Given the description of an element on the screen output the (x, y) to click on. 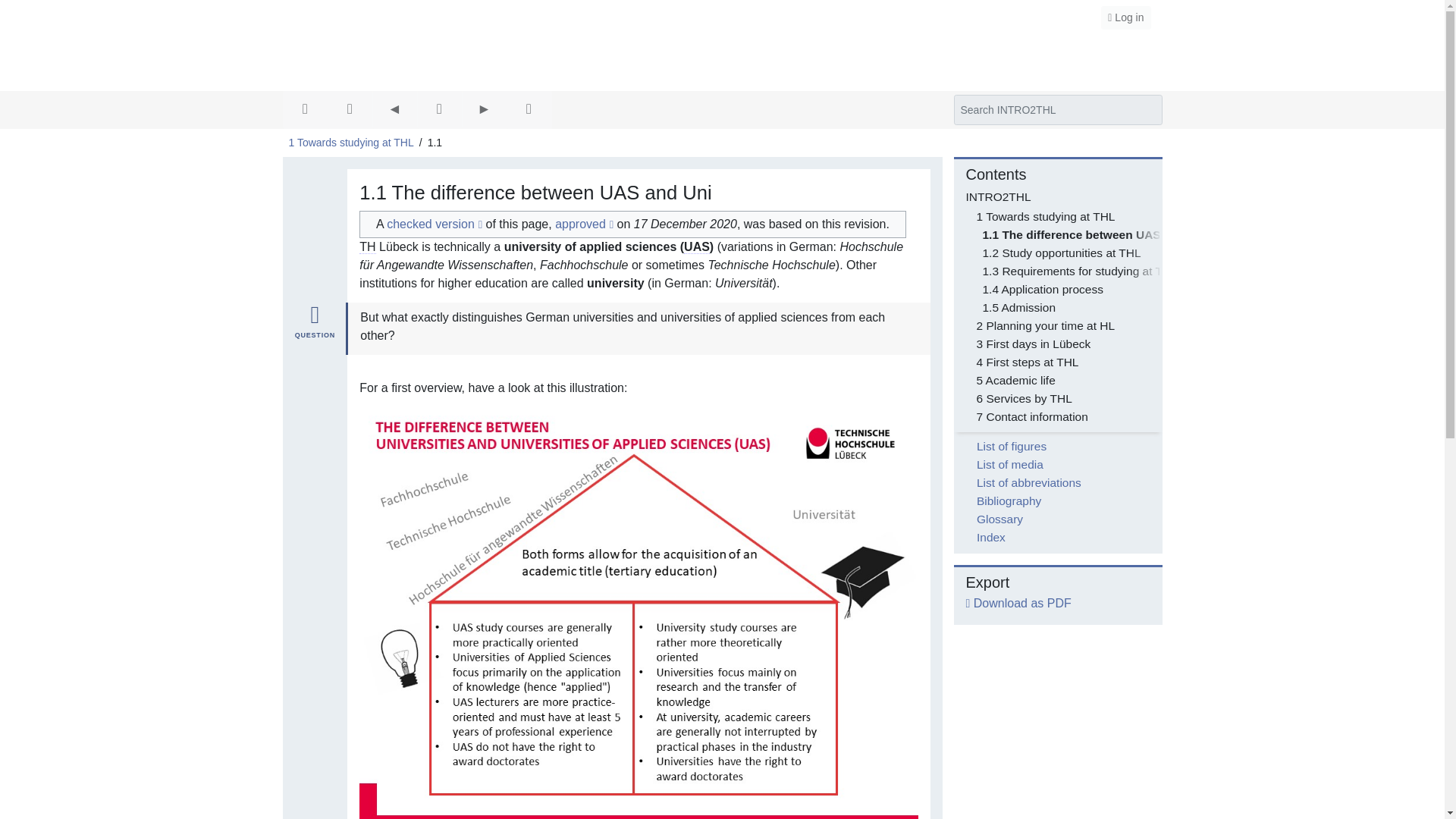
Next page (483, 109)
approved (583, 223)
Log in (1125, 17)
Previous page (393, 109)
Special:Table of Contents (438, 109)
INTRO2THL (722, 61)
Table of Contents (439, 109)
1.1 The difference between UAS and Uni (1094, 234)
Log in (1125, 16)
INTRO2THL (722, 61)
